Given the description of an element on the screen output the (x, y) to click on. 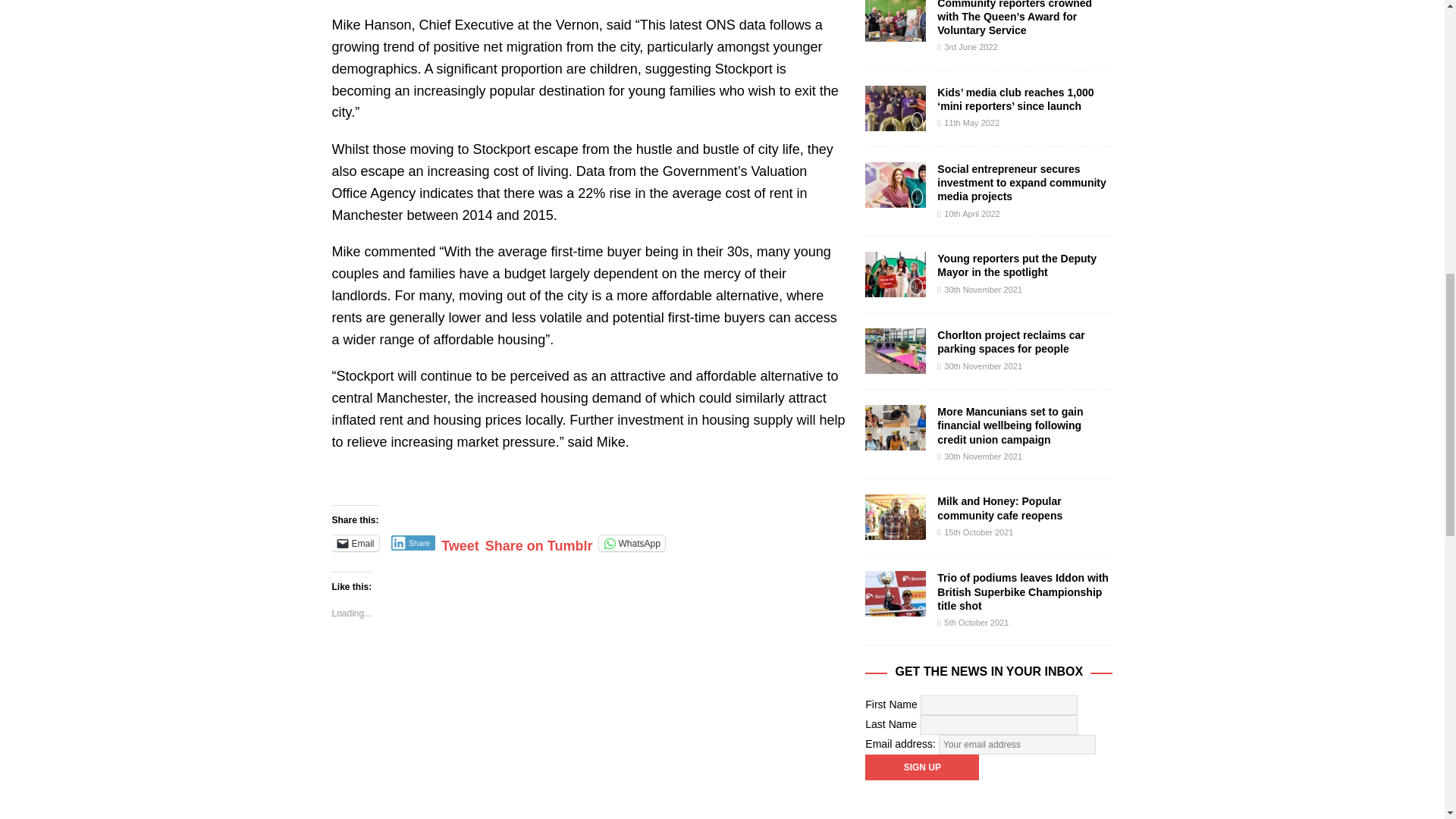
Sign up (921, 767)
